Given the description of an element on the screen output the (x, y) to click on. 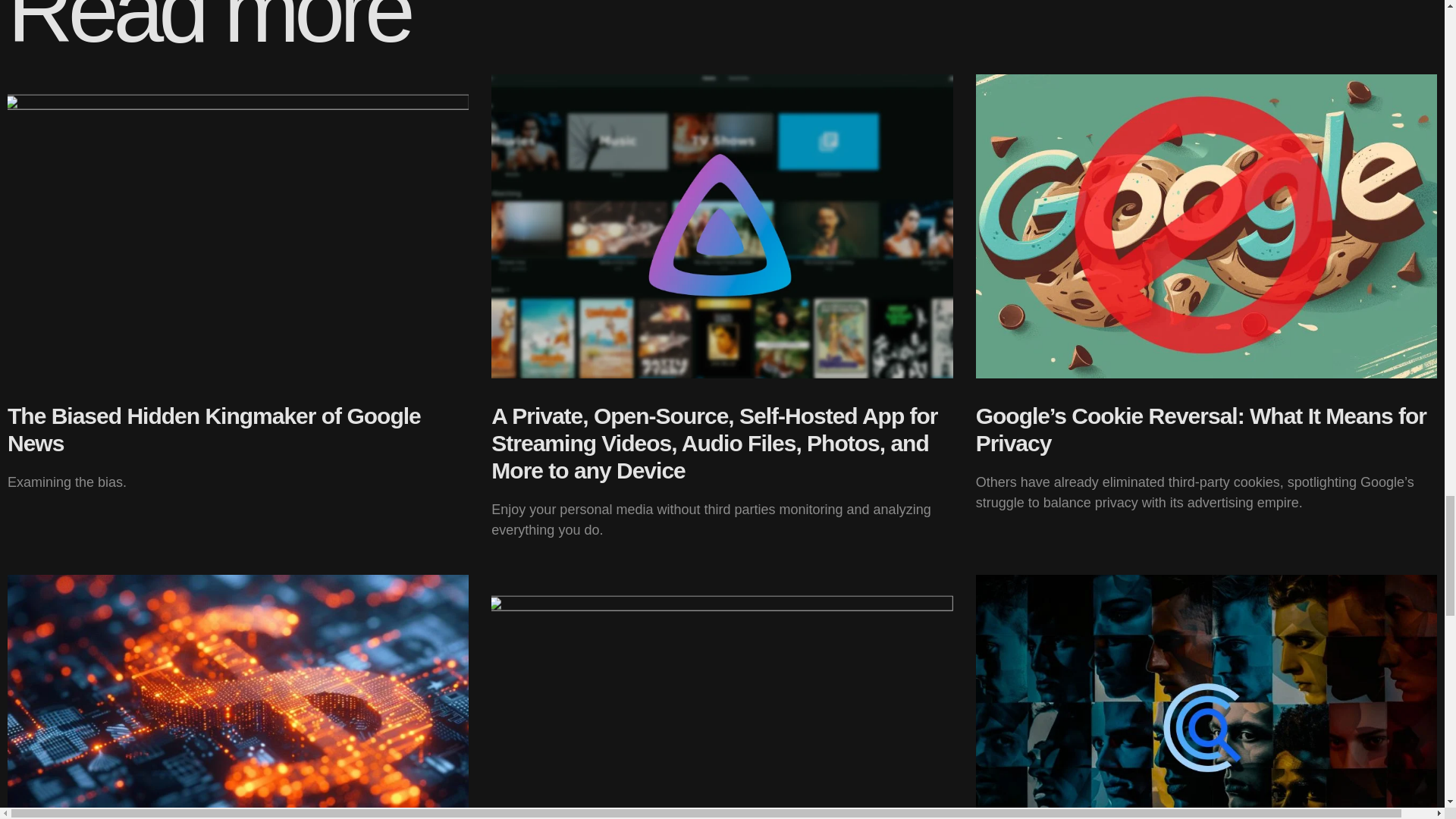
The Biased Hidden Kingmaker of Google News (213, 429)
